Given the description of an element on the screen output the (x, y) to click on. 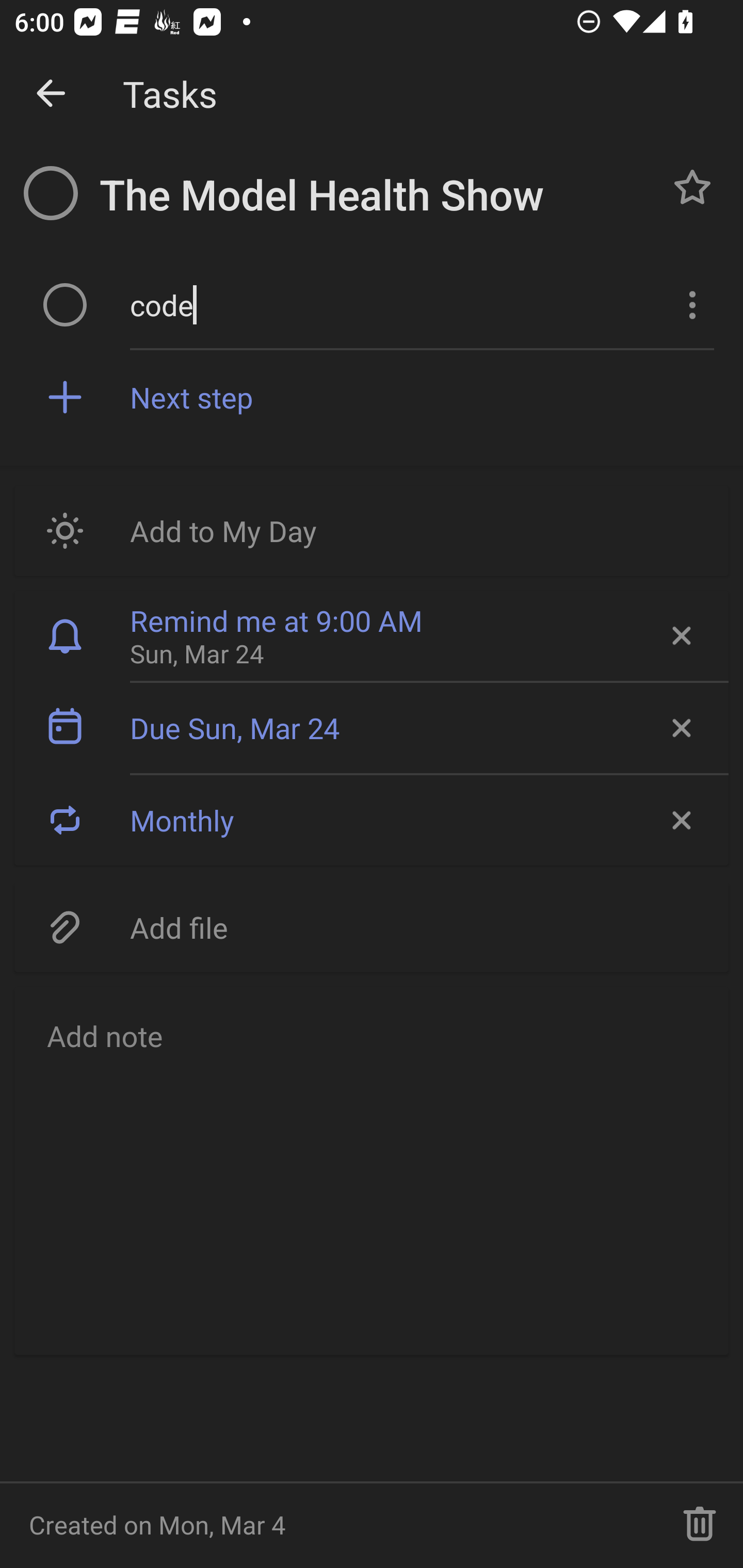
Dismiss detail view (50, 93)
Incomplete task The Model Health Show, Button (50, 192)
The Model Health Show (374, 195)
Normal task The Model Health Show, Button (692, 187)
code (393, 304)
More Options (690, 304)
Uncompleted, code, step, Button (64, 304)
Next step (422, 396)
Add to My Day (371, 530)
Remind me at 9:00 AM Sun, Mar 24 Remove reminder (371, 635)
Remove reminder (679, 635)
Due Sun, Mar 24 Due Sun, Mar 24 Remove due date (371, 728)
Remove due date (679, 728)
Remove recurrence (679, 819)
Add file (371, 926)
Add note, Button Email Renderer Add note (371, 1170)
Delete task (699, 1524)
